Given the description of an element on the screen output the (x, y) to click on. 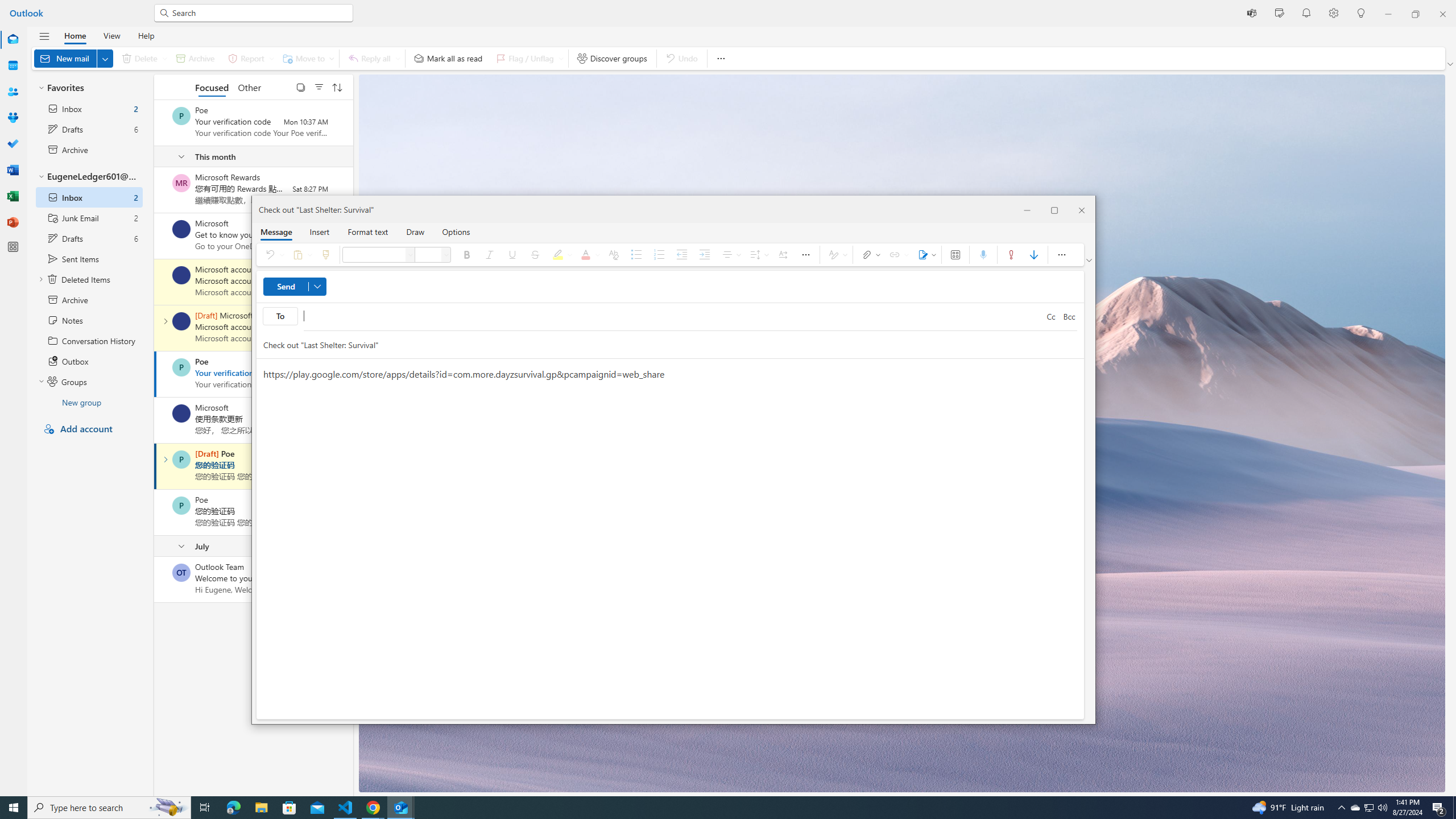
High importance (1011, 254)
Excel (12, 196)
More apps (12, 246)
Other (248, 86)
Ribbon display options (1089, 260)
User Promoted Notification Area (1368, 807)
Mail (12, 39)
File Explorer (261, 807)
View (111, 35)
Bcc (1068, 316)
To (673, 316)
Show desktop (1454, 807)
Numbering (659, 254)
Attach file (869, 254)
Mail (12, 39)
